Given the description of an element on the screen output the (x, y) to click on. 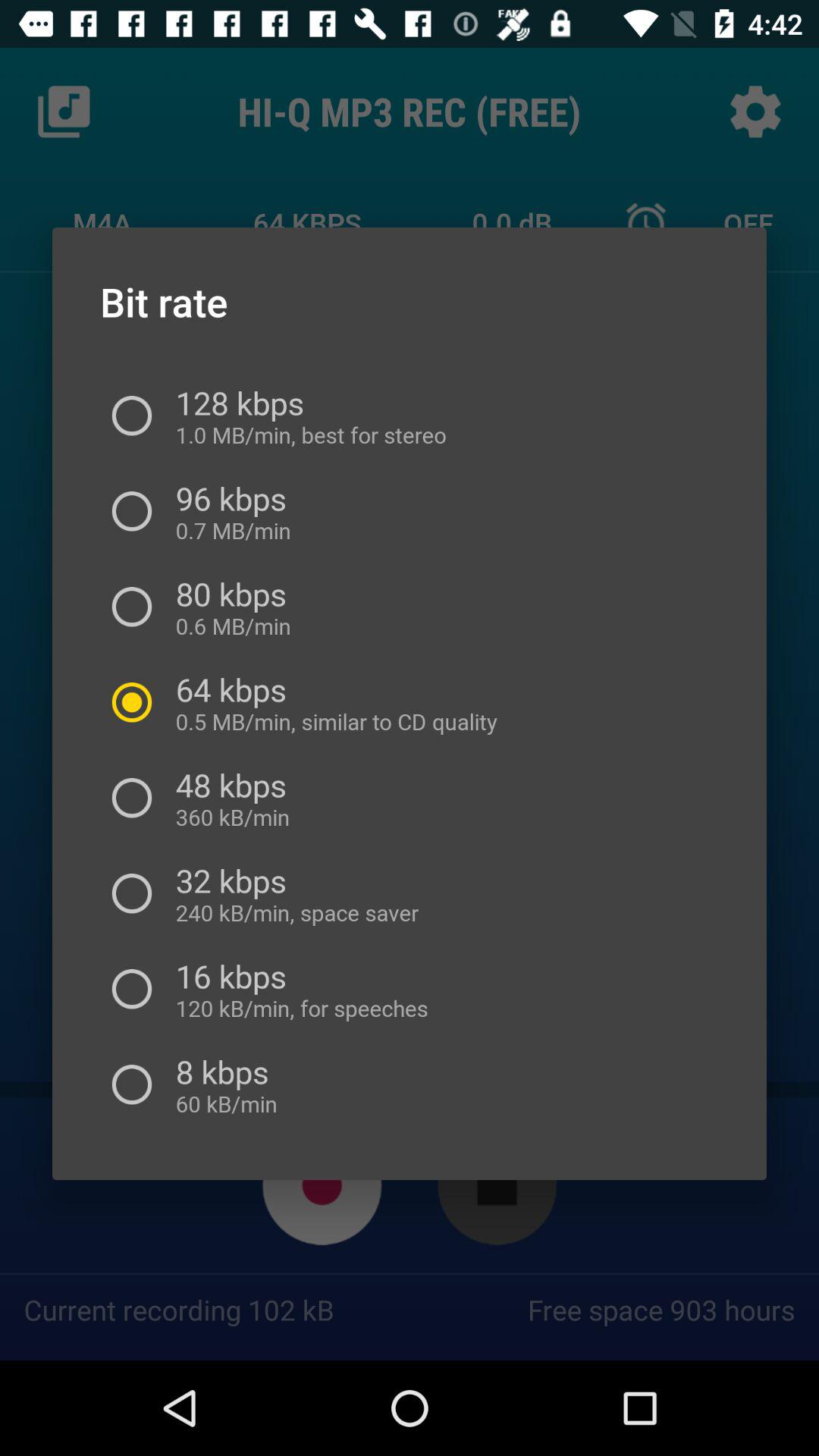
click 128 kbps 1 item (304, 415)
